Given the description of an element on the screen output the (x, y) to click on. 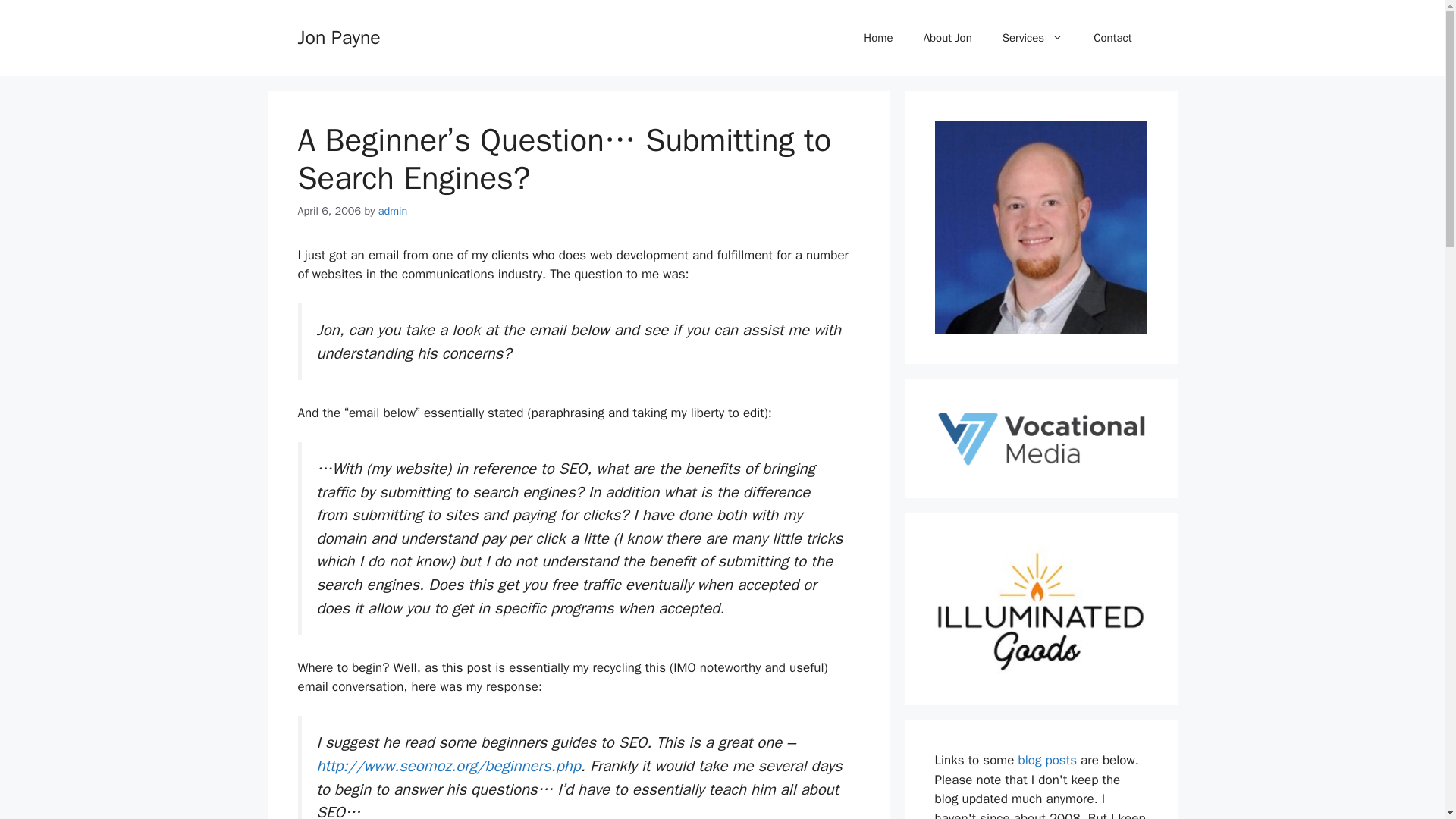
About Jon (947, 37)
Contact (1112, 37)
blog posts (1047, 760)
Home (877, 37)
Jon Payne (338, 37)
Services (1032, 37)
View all posts by admin (392, 210)
admin (392, 210)
